Given the description of an element on the screen output the (x, y) to click on. 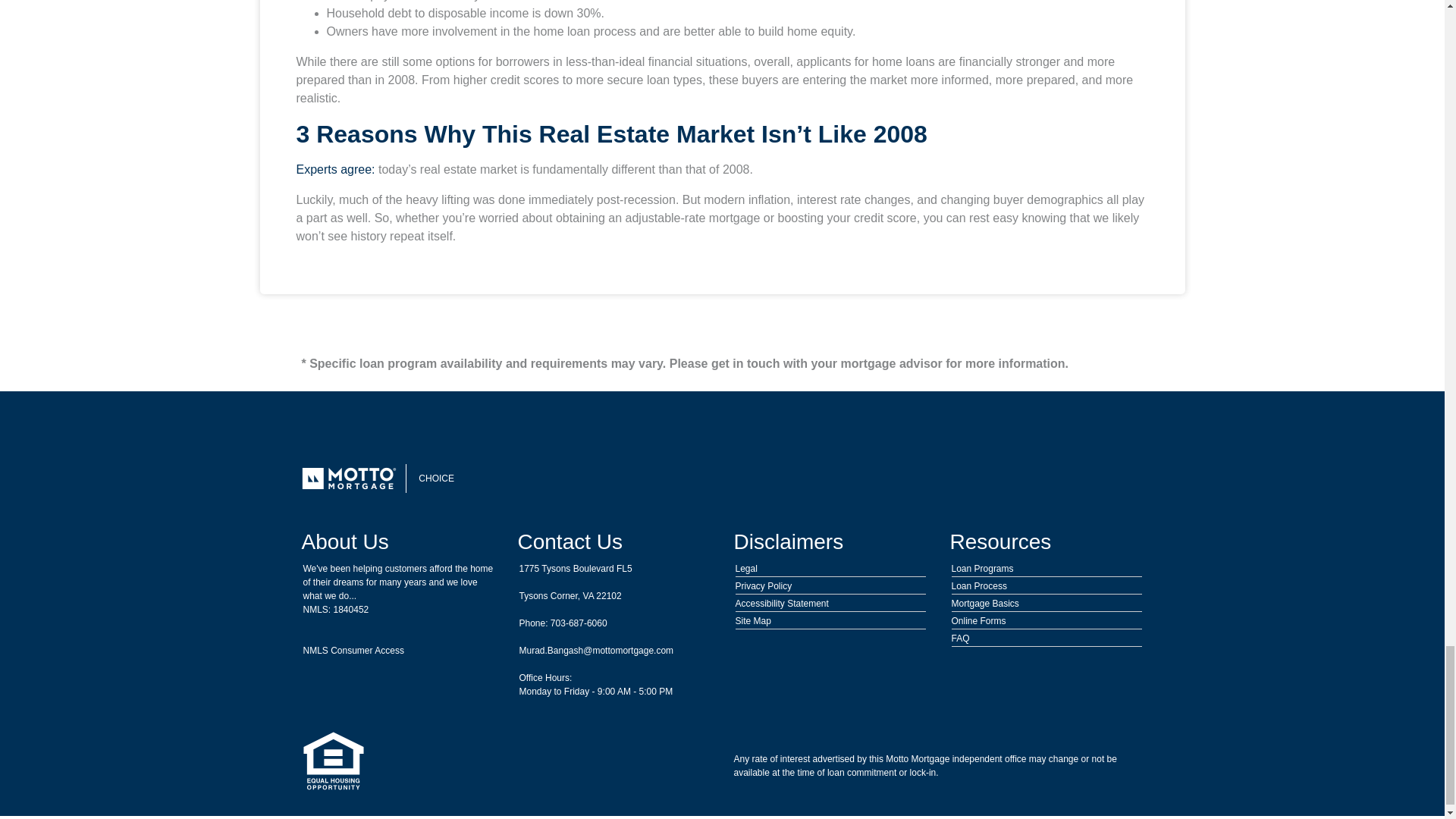
NMLS Consumer Access (353, 650)
Experts agree: (334, 169)
Legal (746, 568)
Loan Process (978, 585)
Loan Programs (981, 568)
Accessibility Statement (781, 603)
Privacy Policy (763, 585)
Site Map (753, 620)
Mortgage Basics (983, 603)
